Given the description of an element on the screen output the (x, y) to click on. 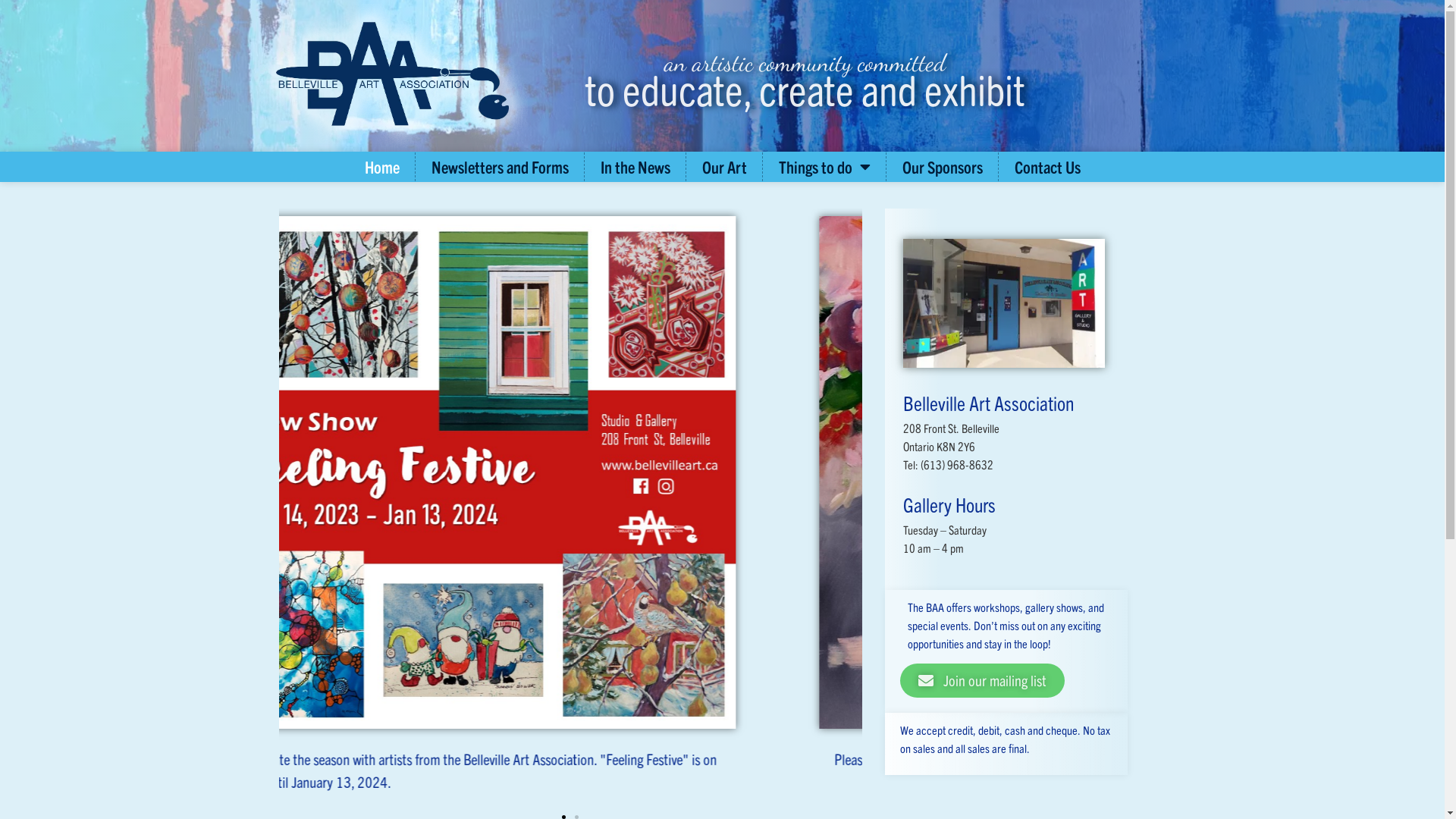
Join our mailing list Element type: text (982, 680)
Newsletters and Forms Element type: text (498, 166)
Our Sponsors Element type: text (942, 166)
In the News Element type: text (635, 166)
Our Art Element type: text (724, 166)
Home Element type: text (381, 166)
Contact Us Element type: text (1047, 166)
Things to do Element type: text (823, 166)
